Given the description of an element on the screen output the (x, y) to click on. 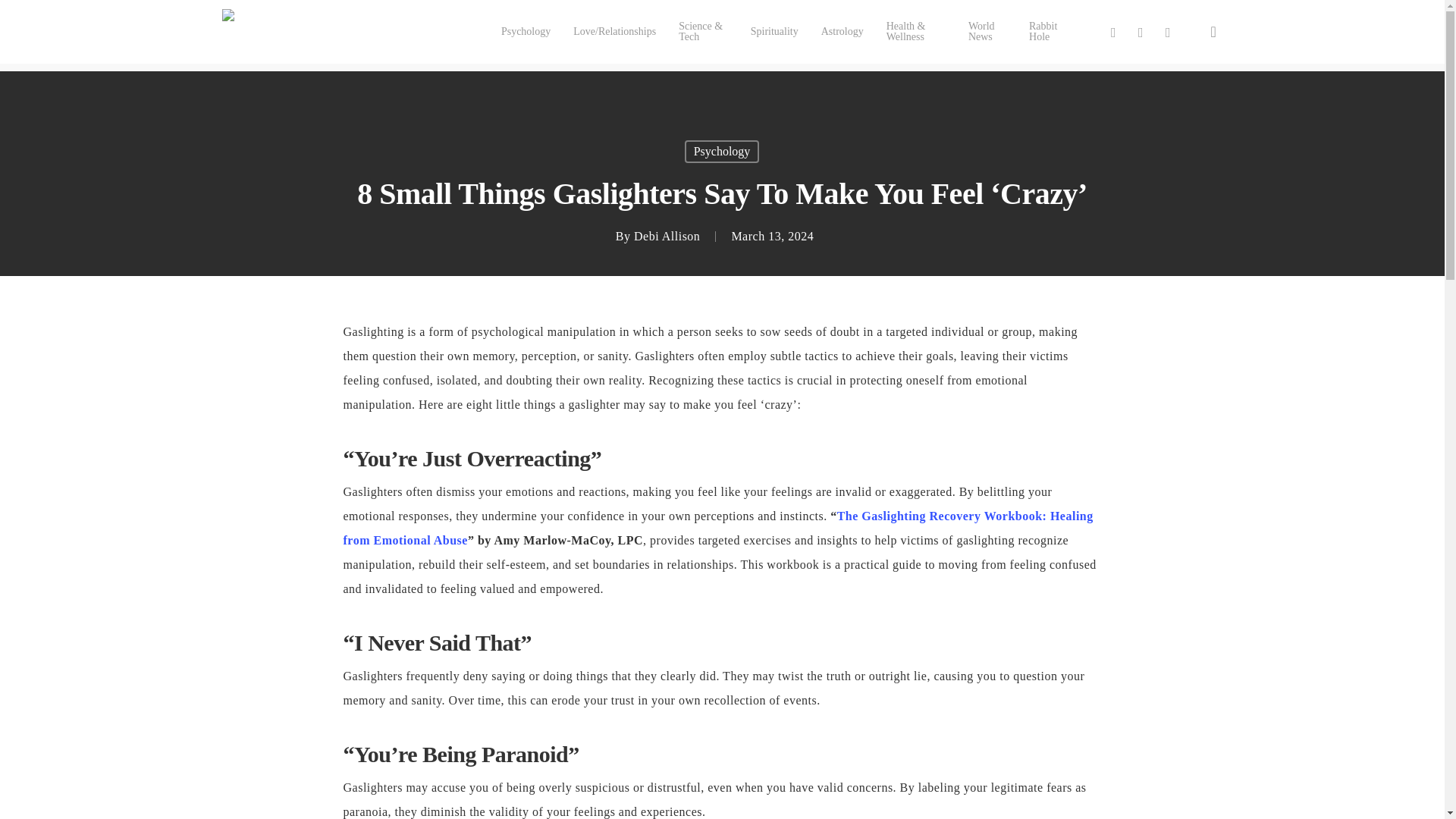
Astrology (842, 31)
Debi Allison (666, 236)
search (1213, 32)
Privacy     (832, 806)
Spirituality (774, 31)
Facebook (1140, 31)
DMCA (787, 806)
Psychology (722, 151)
World News (987, 31)
Disclosure (873, 806)
Instagram (1167, 31)
Psychology (525, 31)
Rabbit Hole (1047, 31)
Legal (751, 806)
